Given the description of an element on the screen output the (x, y) to click on. 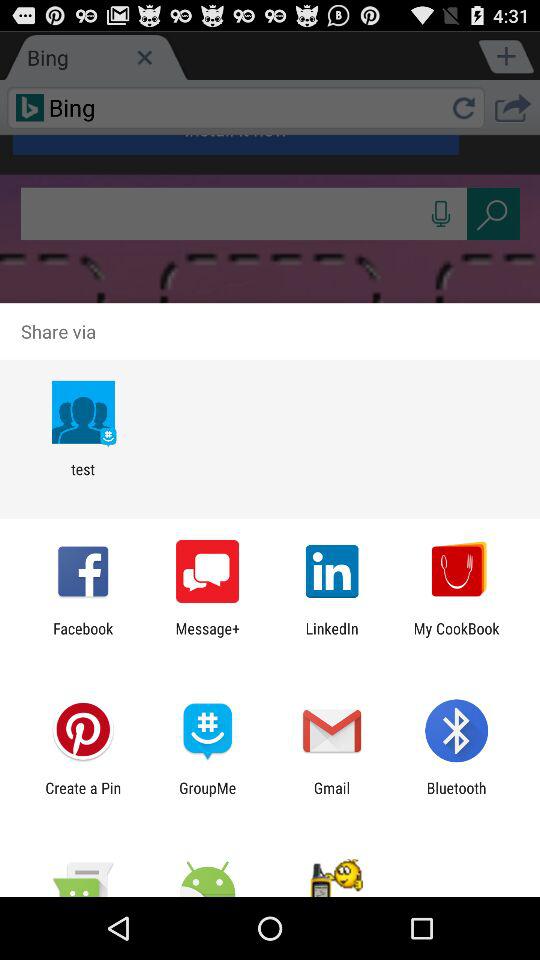
turn off app next to linkedin icon (207, 637)
